Given the description of an element on the screen output the (x, y) to click on. 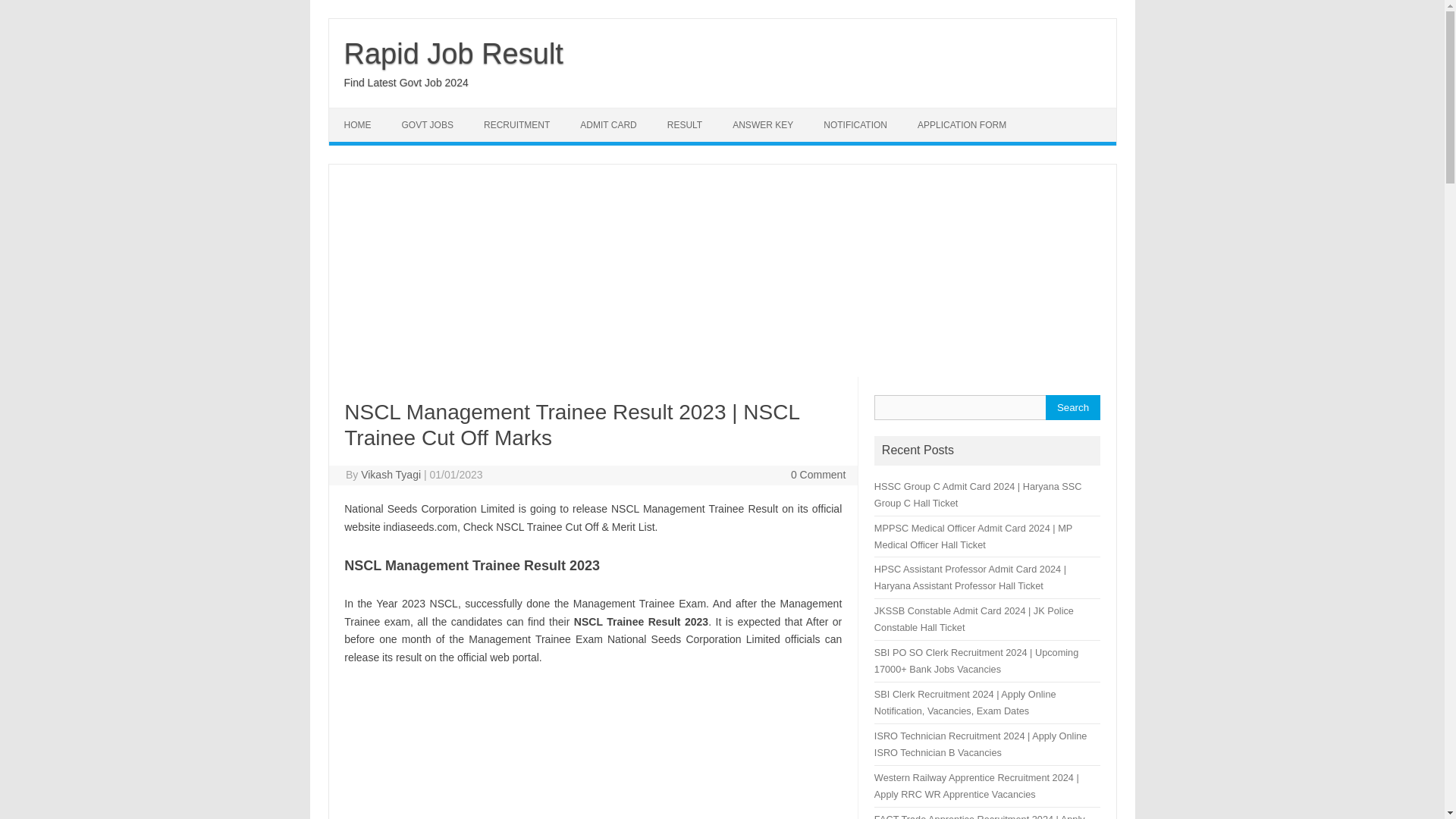
Posts by Vikash Tyagi (390, 474)
Search (1072, 407)
RECRUITMENT (516, 124)
APPLICATION FORM (962, 124)
Rapid Job Result (453, 53)
ADMIT CARD (607, 124)
HOME (358, 124)
NOTIFICATION (855, 124)
Rapid Job Result (453, 53)
Vikash Tyagi (390, 474)
